Given the description of an element on the screen output the (x, y) to click on. 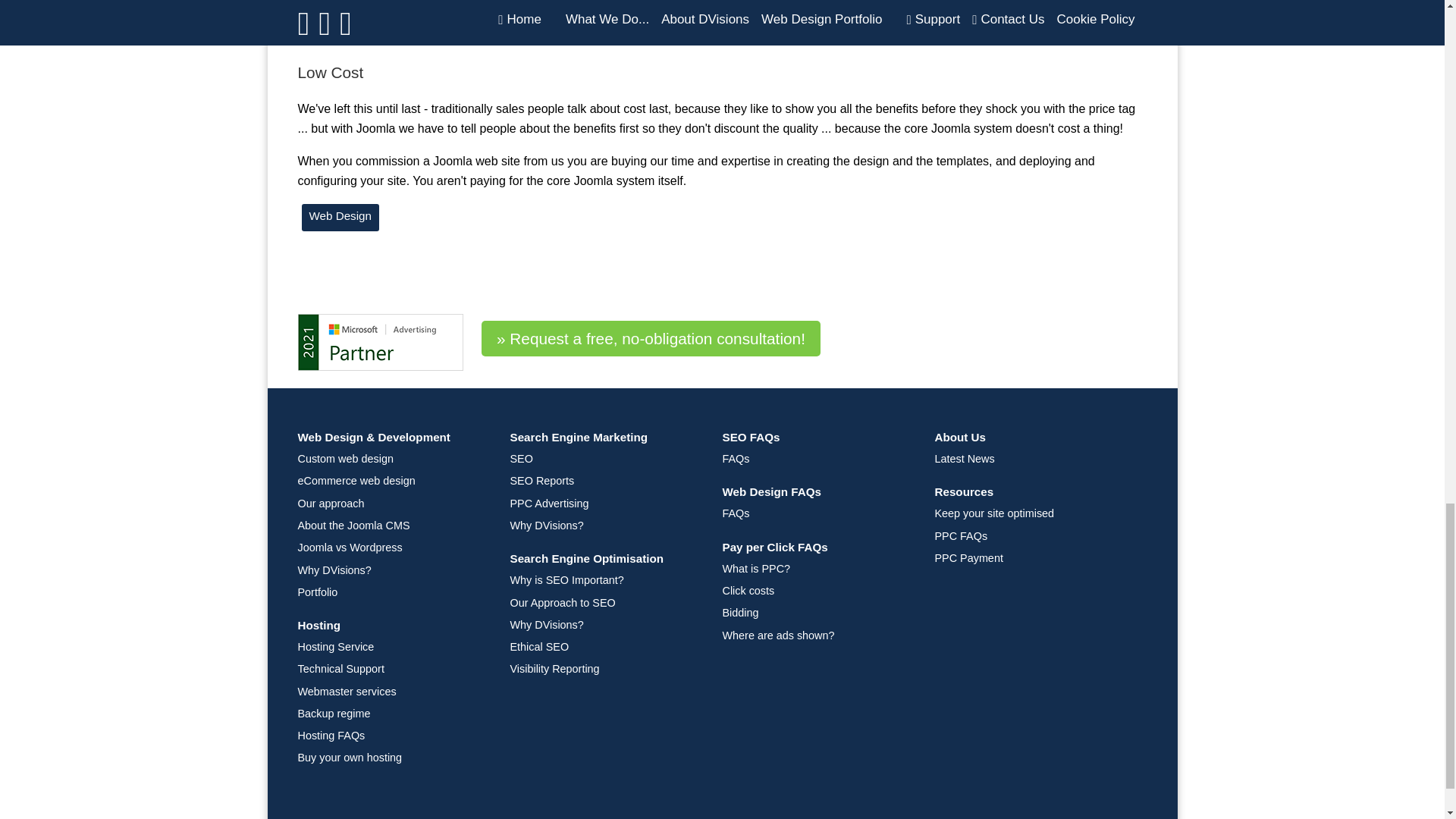
Our approach (392, 503)
Hosting Service (392, 646)
About the Joomla CMS (392, 525)
eCommerce web design (392, 481)
Custom web design (392, 459)
Joomla vs Wordpress (392, 547)
Why DVisions? (392, 570)
Web Design (339, 216)
Portfolio (392, 592)
